Given the description of an element on the screen output the (x, y) to click on. 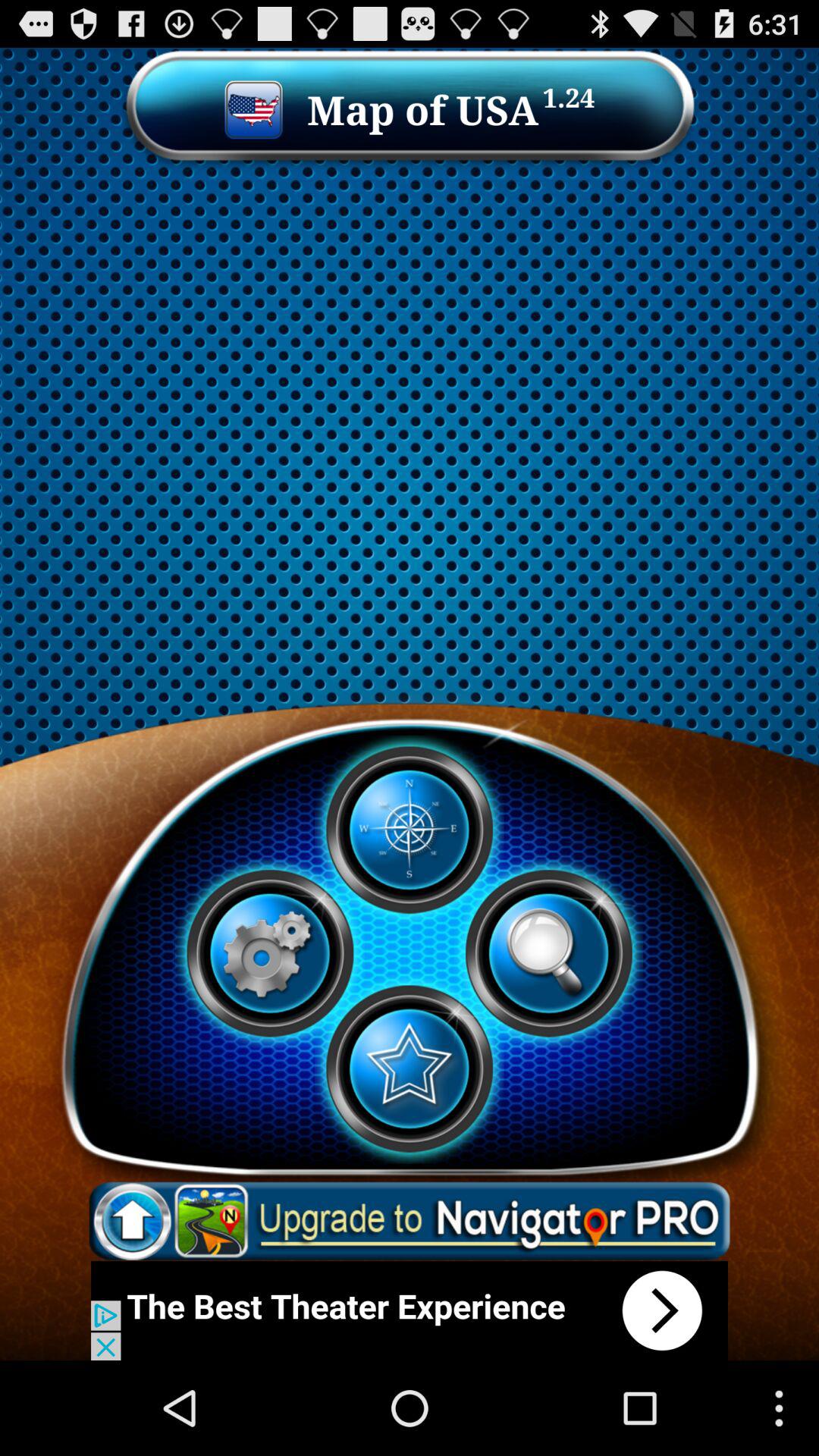
go to search (548, 953)
